Given the description of an element on the screen output the (x, y) to click on. 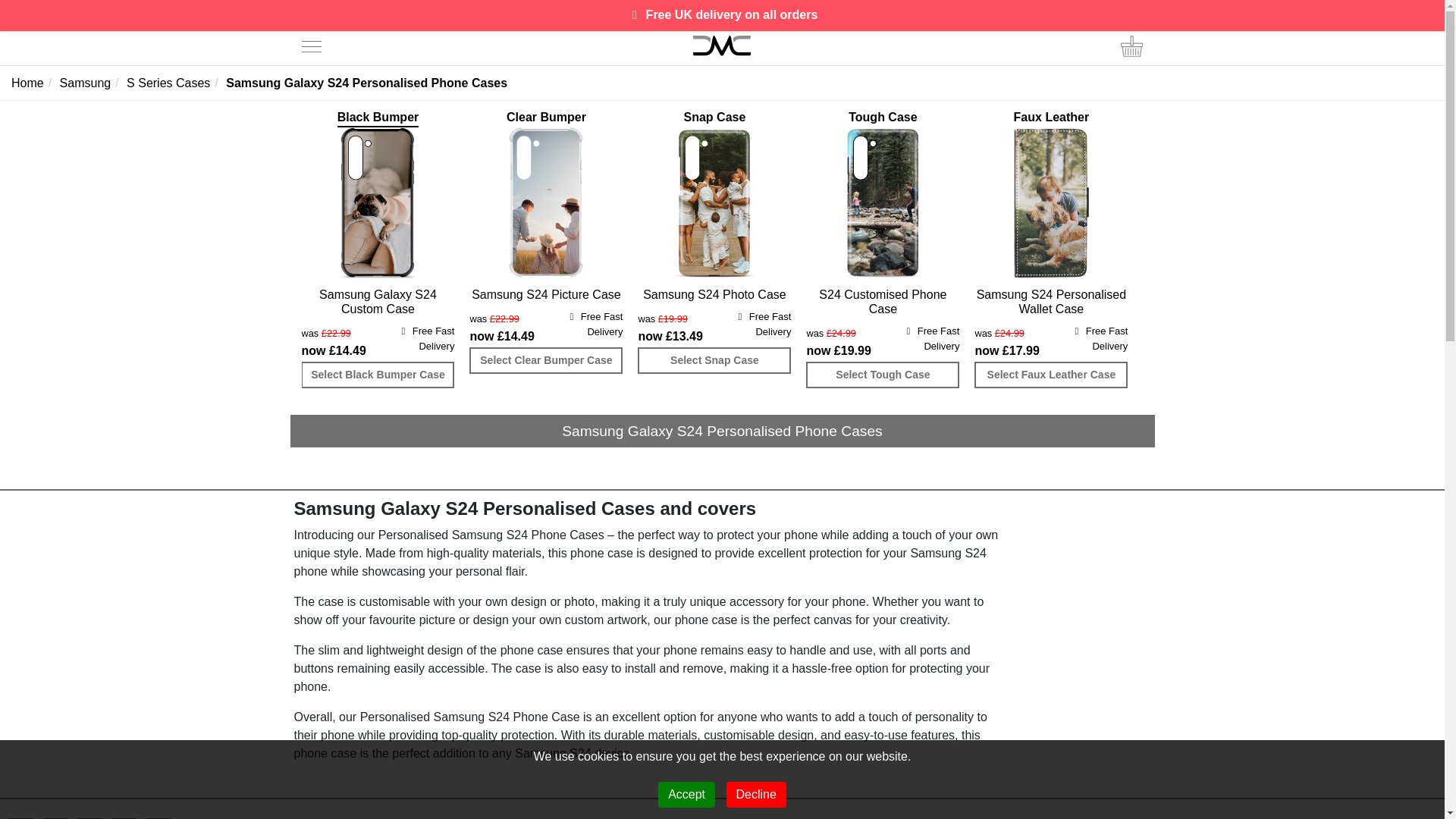
Samsung Galaxy S24 Custom Case (377, 301)
Samsung S24 Photo Case (713, 294)
Design My Case (721, 46)
Home (33, 82)
Basket (1131, 44)
S Series Cases (174, 82)
Samsung (91, 82)
Samsung S24 Picture Case (545, 294)
Samsung Galaxy S24 Personalised Phone Cases (365, 82)
Samsung S24 Personalised Wallet Case (1050, 301)
S24 Customised Phone Case (882, 301)
